Given the description of an element on the screen output the (x, y) to click on. 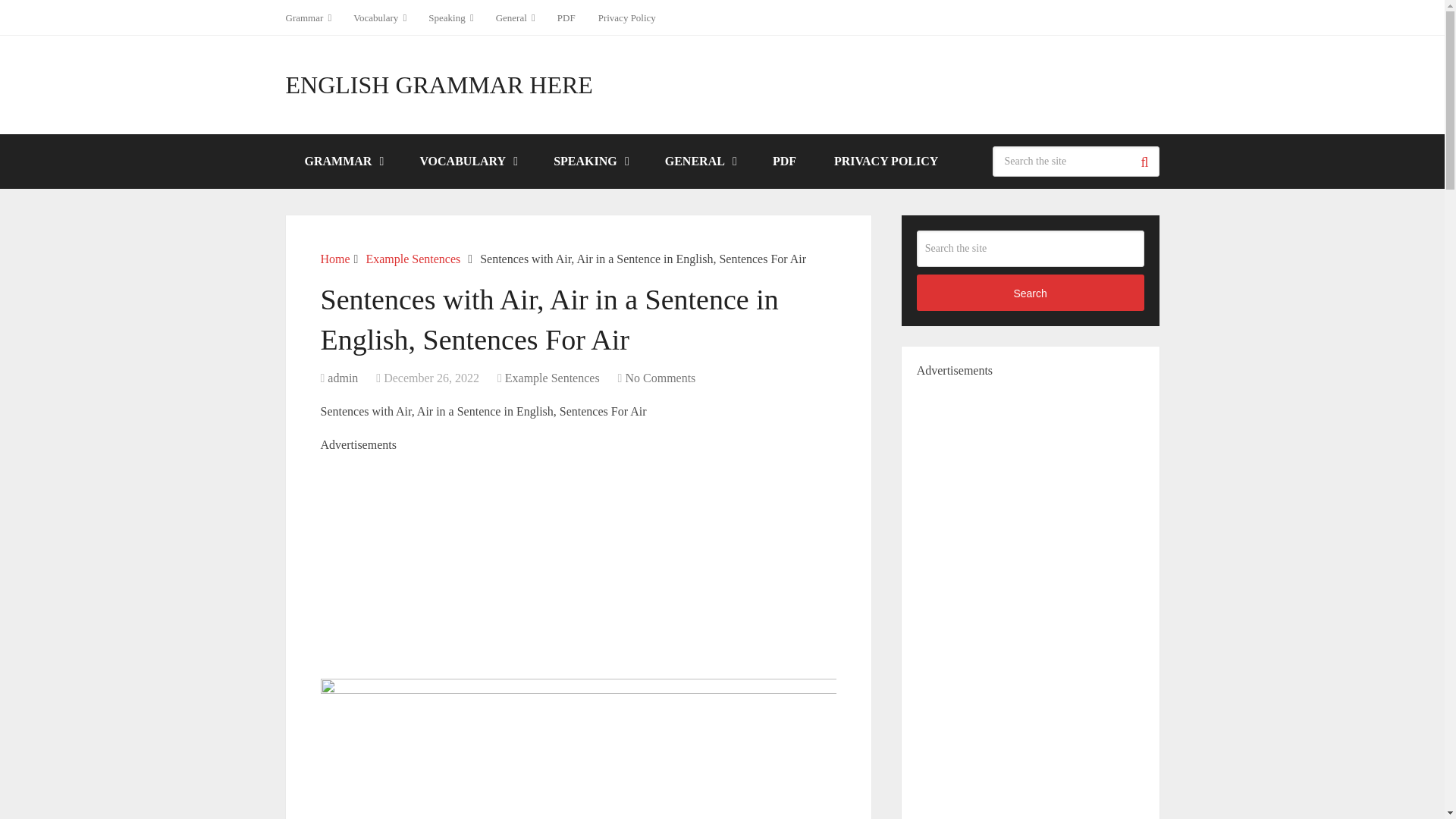
PDF (566, 17)
Privacy Policy (626, 17)
Posts by admin (342, 377)
Speaking (449, 17)
Vocabulary (379, 17)
View all posts in Example Sentences (552, 377)
Grammar (313, 17)
General (515, 17)
ENGLISH GRAMMAR HERE (438, 84)
